Given the description of an element on the screen output the (x, y) to click on. 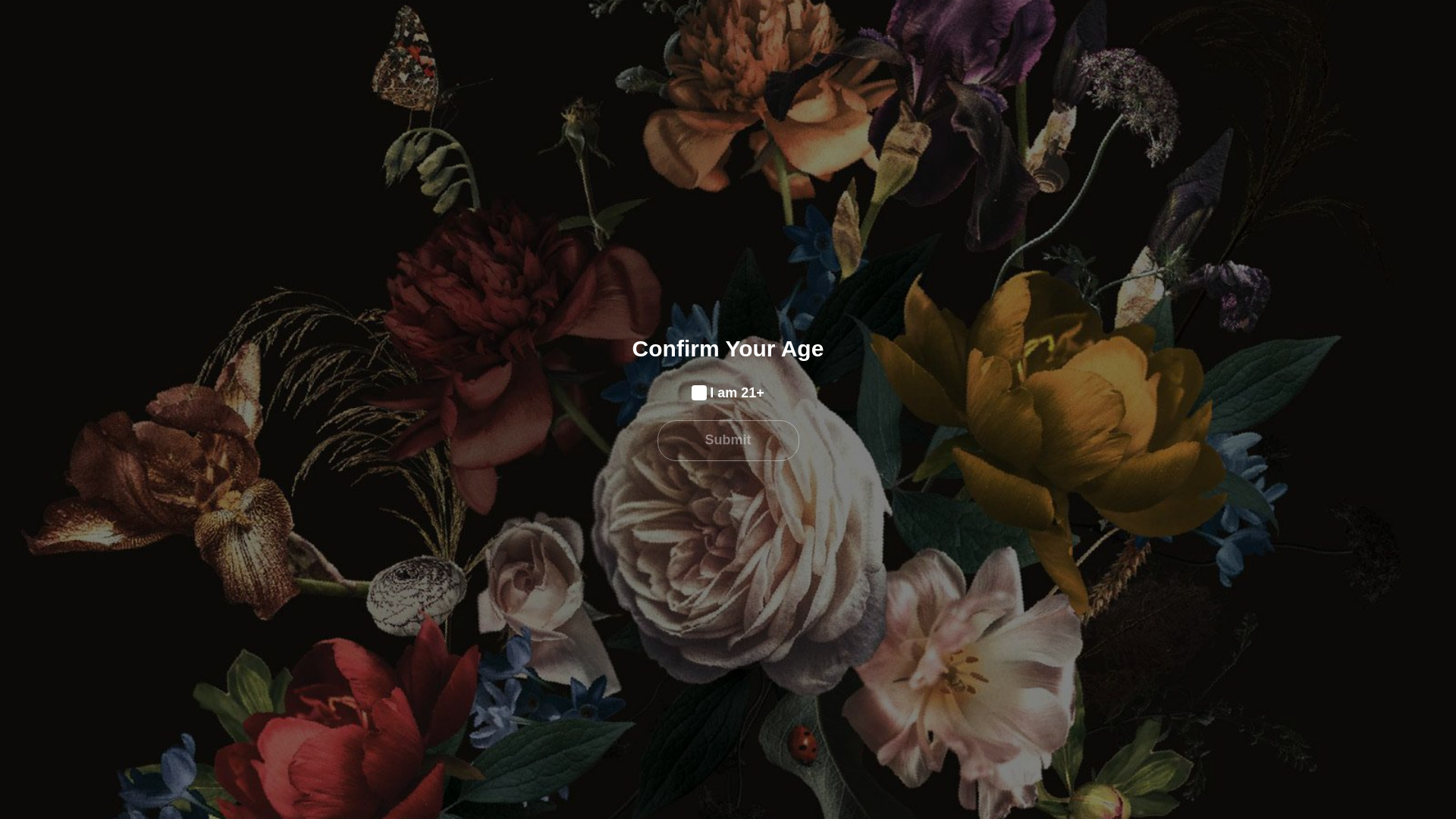
California (388, 229)
2024-03-30 (387, 36)
Syndicate Event (370, 93)
Add to calendar (715, 389)
Click to view a Google Map (444, 238)
View Organizer Website (499, 48)
